Given the description of an element on the screen output the (x, y) to click on. 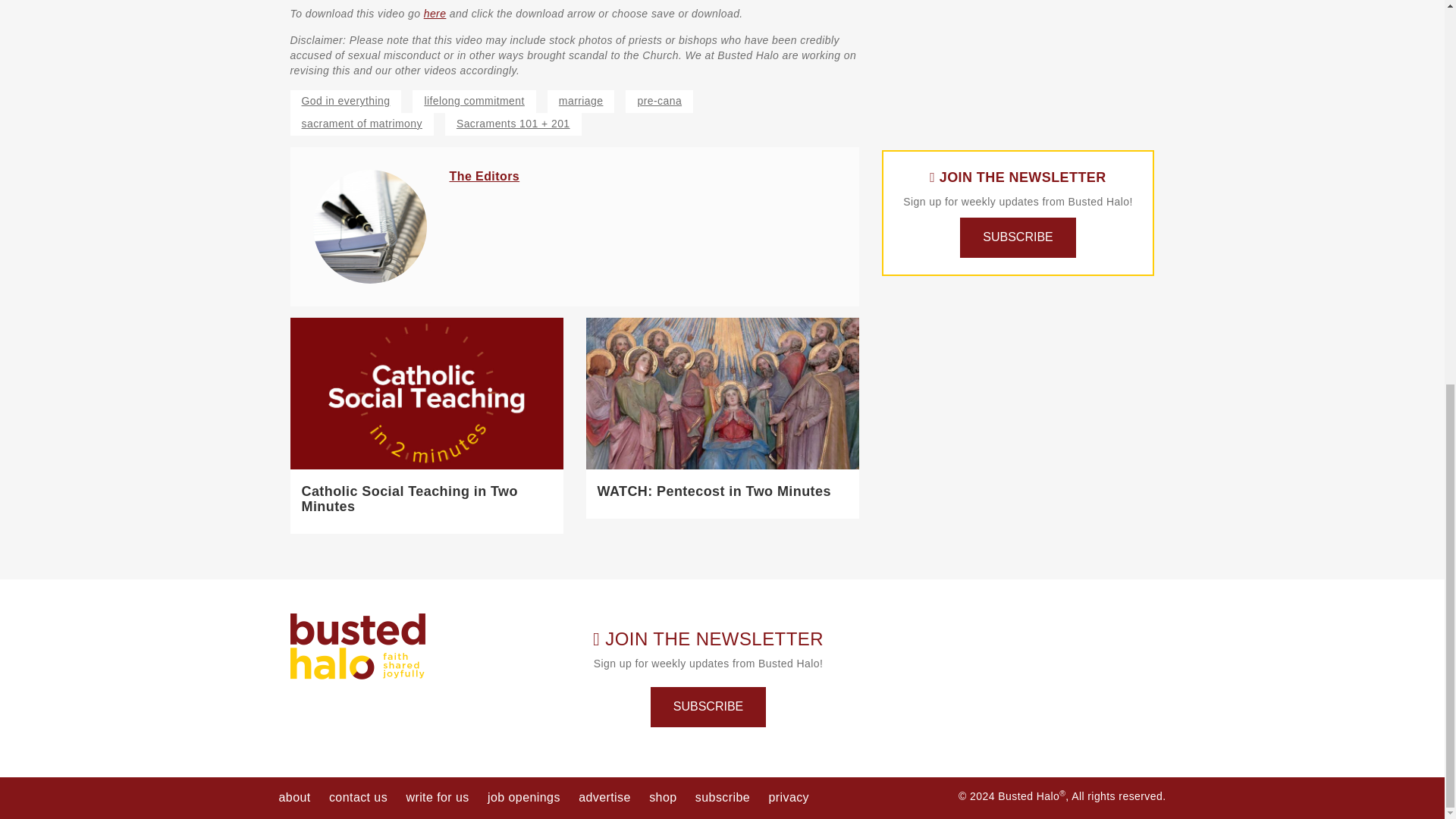
The Editors (483, 175)
sacrament of matrimony (360, 124)
Catholic Social Teaching in Two Minutes (409, 499)
marriage (580, 101)
God in everything (345, 101)
here (434, 13)
pre-cana (659, 101)
WATCH: Pentecost in Two Minutes (713, 491)
lifelong commitment (473, 101)
